Given the description of an element on the screen output the (x, y) to click on. 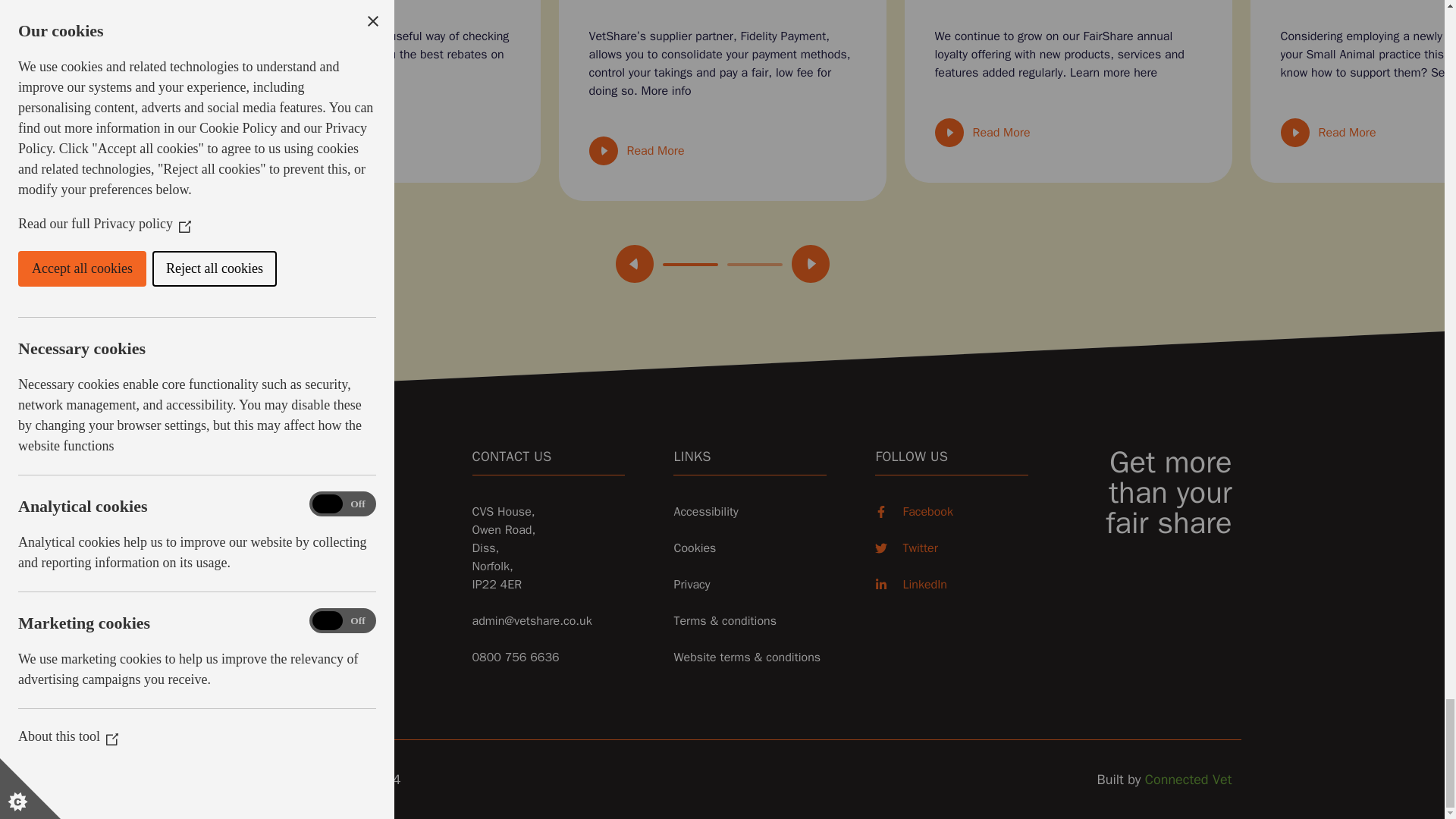
Read More (636, 150)
Read More (1327, 132)
Read More (290, 132)
Read More (981, 132)
